Given the description of an element on the screen output the (x, y) to click on. 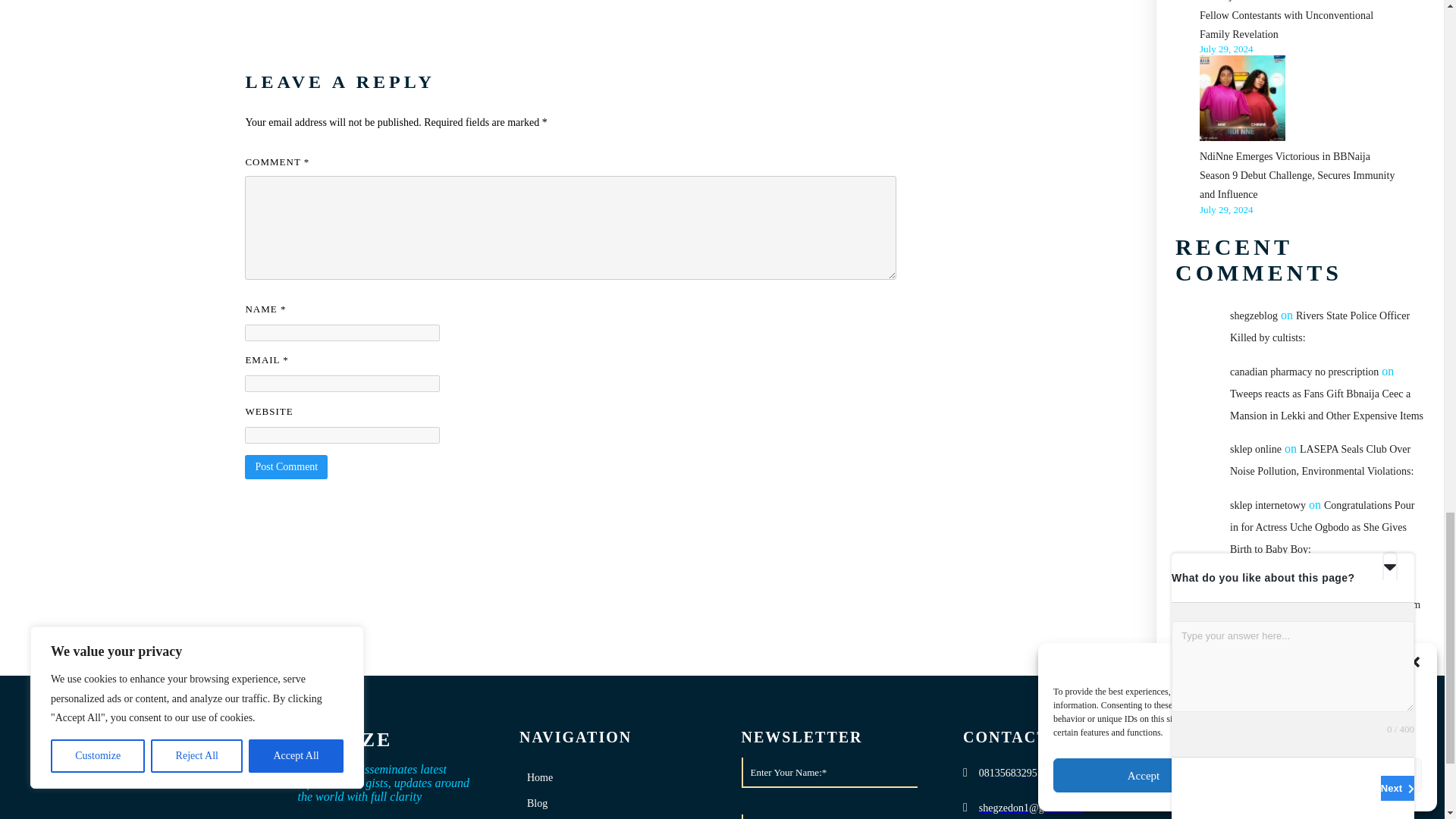
Post Comment (285, 467)
